Given the description of an element on the screen output the (x, y) to click on. 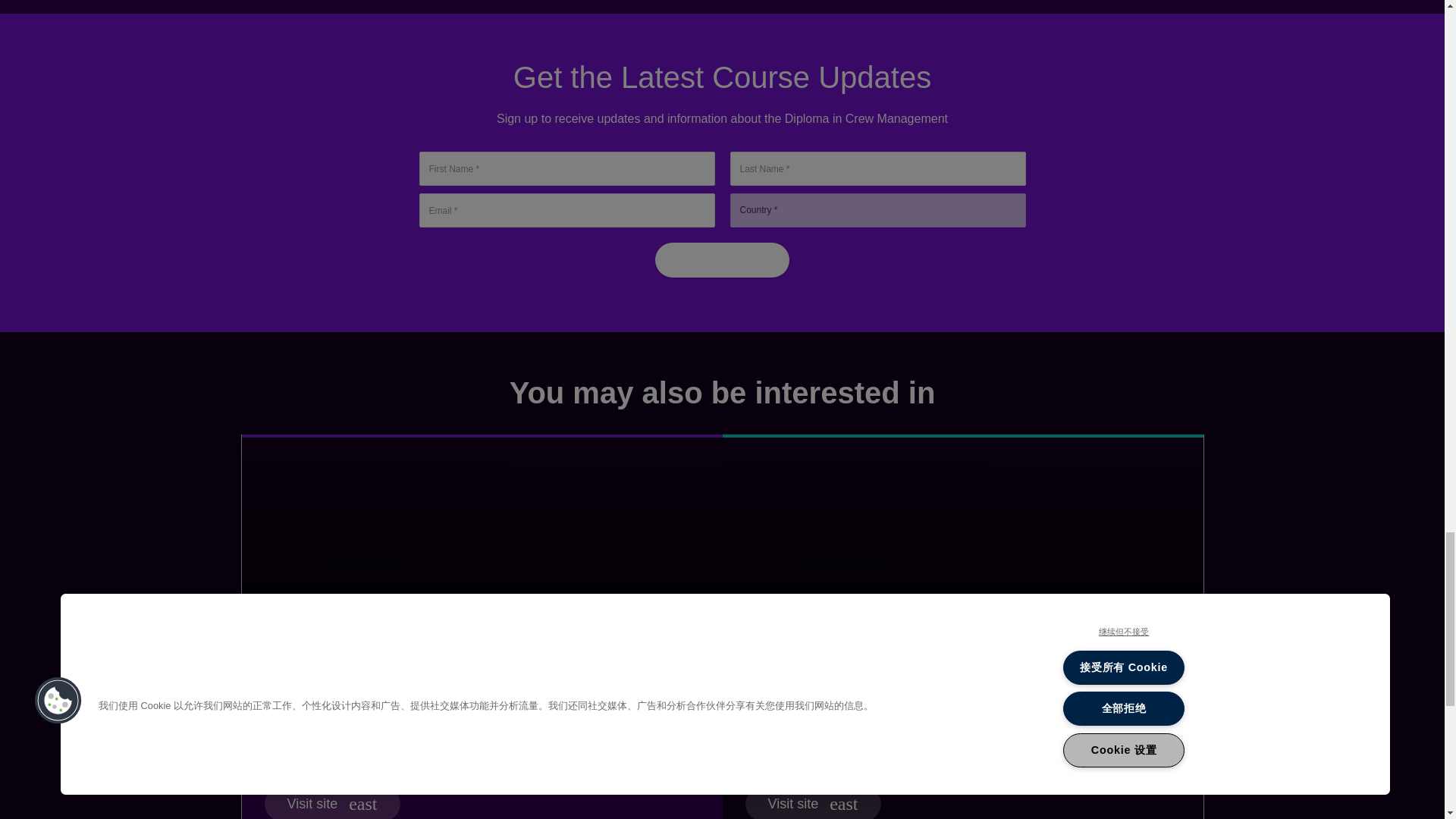
Visit site (812, 802)
Sign Up (722, 259)
Visit site (330, 802)
